Given the description of an element on the screen output the (x, y) to click on. 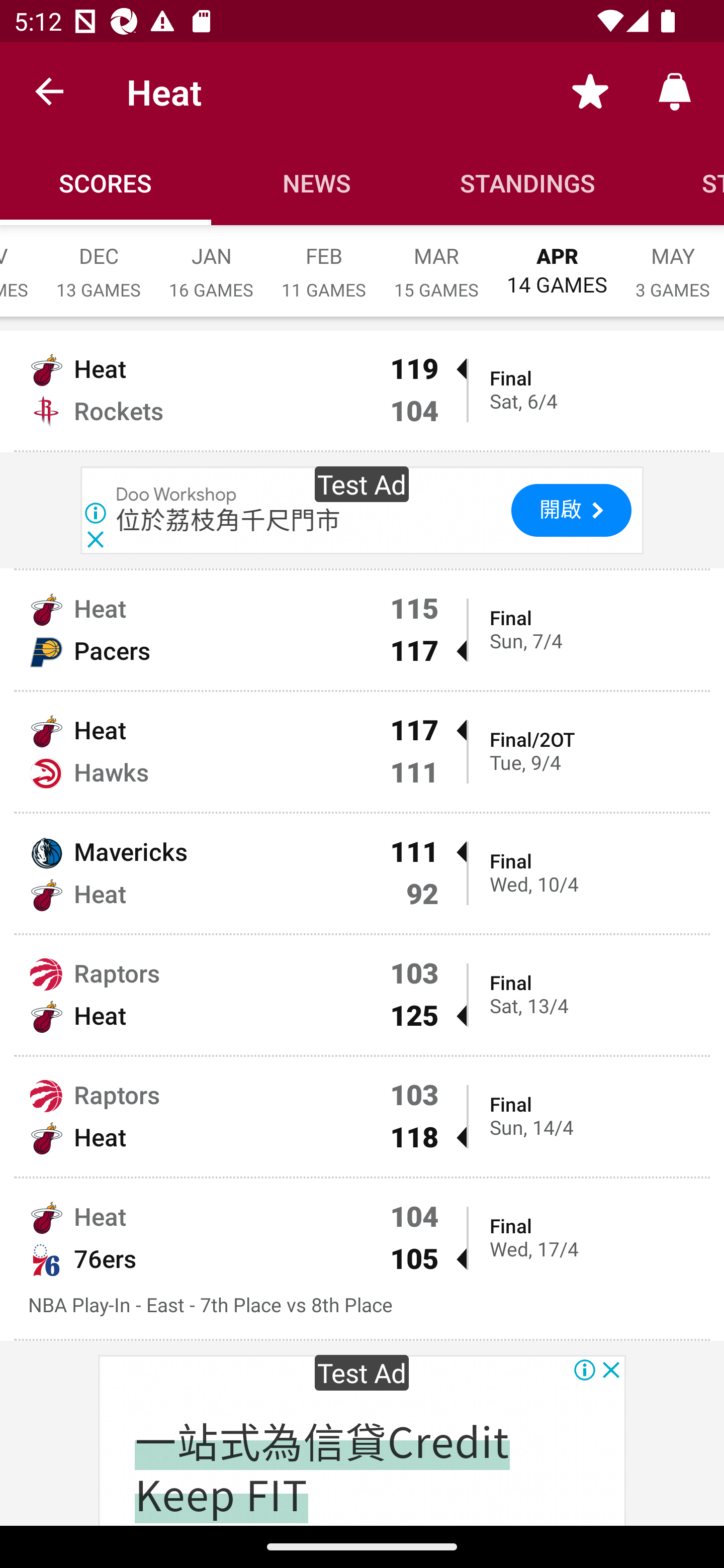
back.button (49, 90)
Favorite toggle (590, 90)
Alerts (674, 90)
News NEWS (316, 183)
Standings STANDINGS (527, 183)
DEC 13 GAMES (97, 262)
JAN 16 GAMES (210, 262)
FEB 11 GAMES (323, 262)
MAR 15 GAMES (436, 262)
APR 14 GAMES (557, 261)
MAY 3 GAMES (672, 262)
Heat 119  Rockets 104 Final Sat, 6/4 (362, 390)
Doo Workshop (176, 495)
開啟 (570, 510)
位於荔枝角千尺門市 (228, 520)
Heat 115 Pacers 117  Final Sun, 7/4 (362, 629)
Heat 117  Hawks 111 Final/2OT Tue, 9/4 (362, 751)
Mavericks 111  Heat 92 Final Wed, 10/4 (362, 872)
Raptors 103 Heat 125  Final Sat, 13/4 (362, 994)
Raptors 103 Heat 118  Final Sun, 14/4 (362, 1116)
一站式為信貸Credit Keep FIT 一站式為信貸Credit Keep FIT (322, 1467)
